Given the description of an element on the screen output the (x, y) to click on. 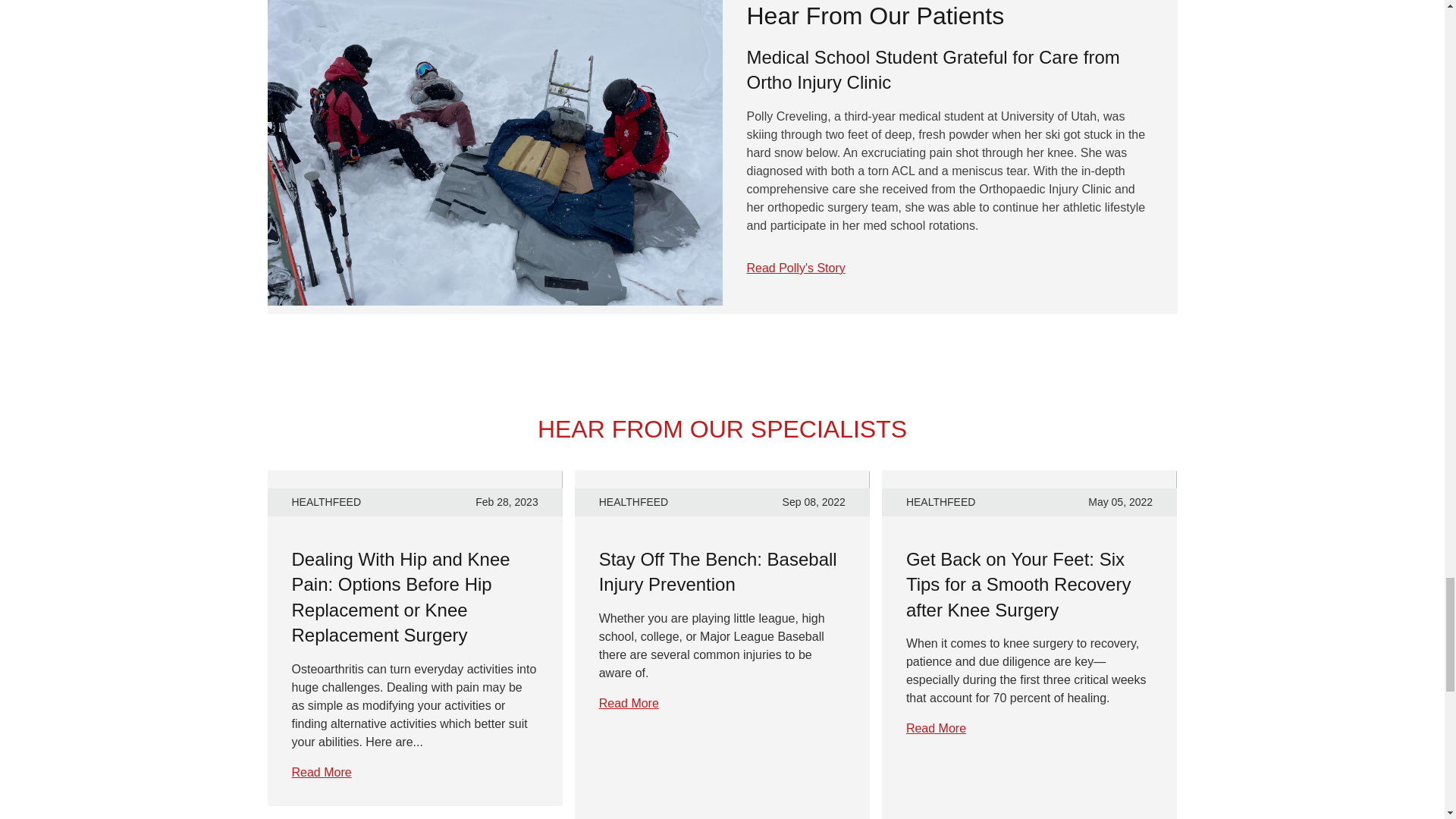
Read More (320, 771)
Stay Off The Bench: Baseball Injury Prevention (717, 571)
Read More (628, 703)
Read Polly's Story (794, 268)
